Given the description of an element on the screen output the (x, y) to click on. 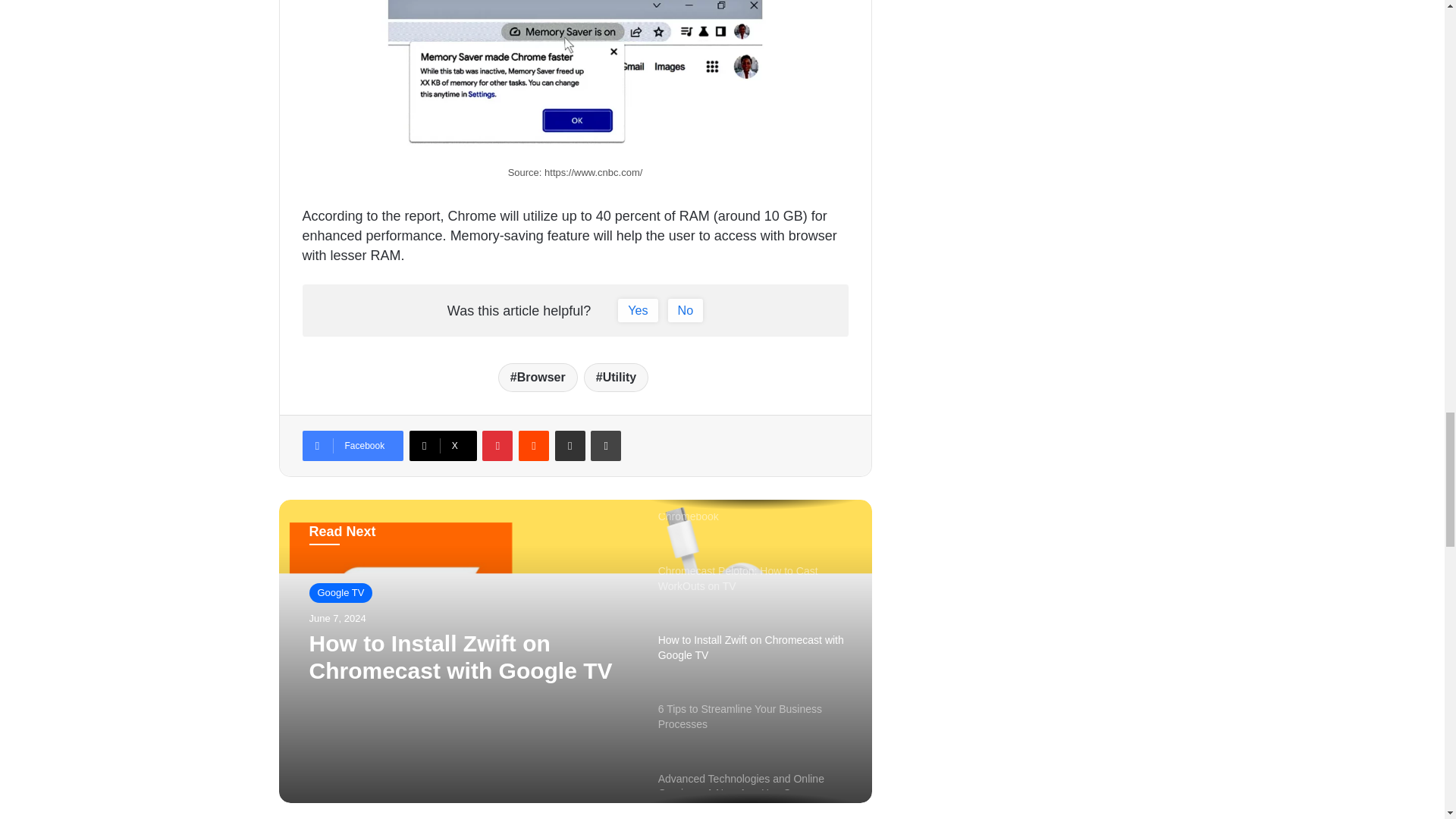
Utility (615, 377)
Facebook (352, 445)
Print (606, 445)
Reddit (533, 445)
Pinterest (496, 445)
Share via Email (569, 445)
X (443, 445)
Browser (537, 377)
